Given the description of an element on the screen output the (x, y) to click on. 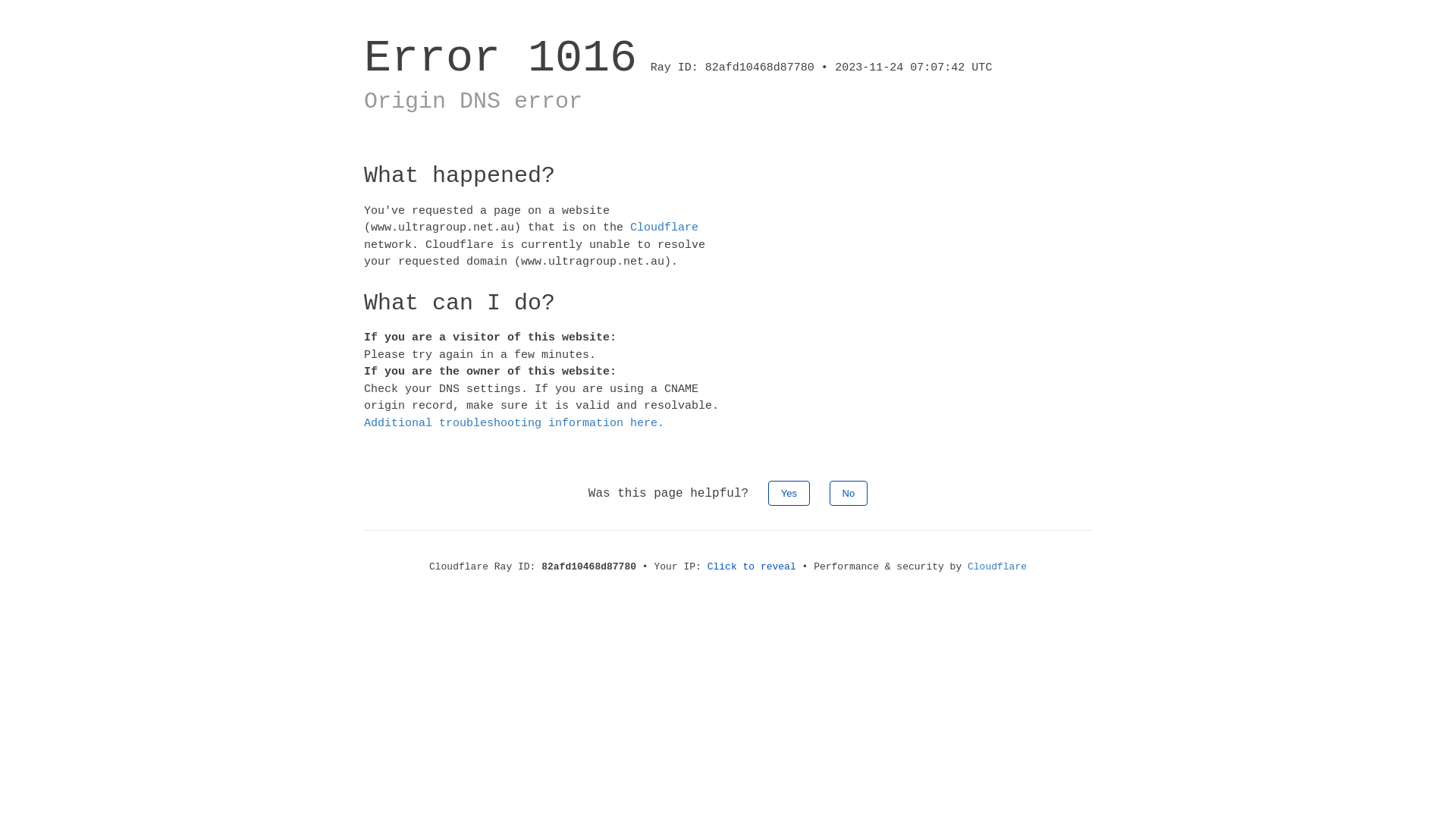
No Element type: text (848, 492)
Yes Element type: text (788, 492)
Additional troubleshooting information here. Element type: text (514, 423)
Cloudflare Element type: text (664, 227)
Click to reveal Element type: text (751, 566)
Cloudflare Element type: text (996, 566)
